Given the description of an element on the screen output the (x, y) to click on. 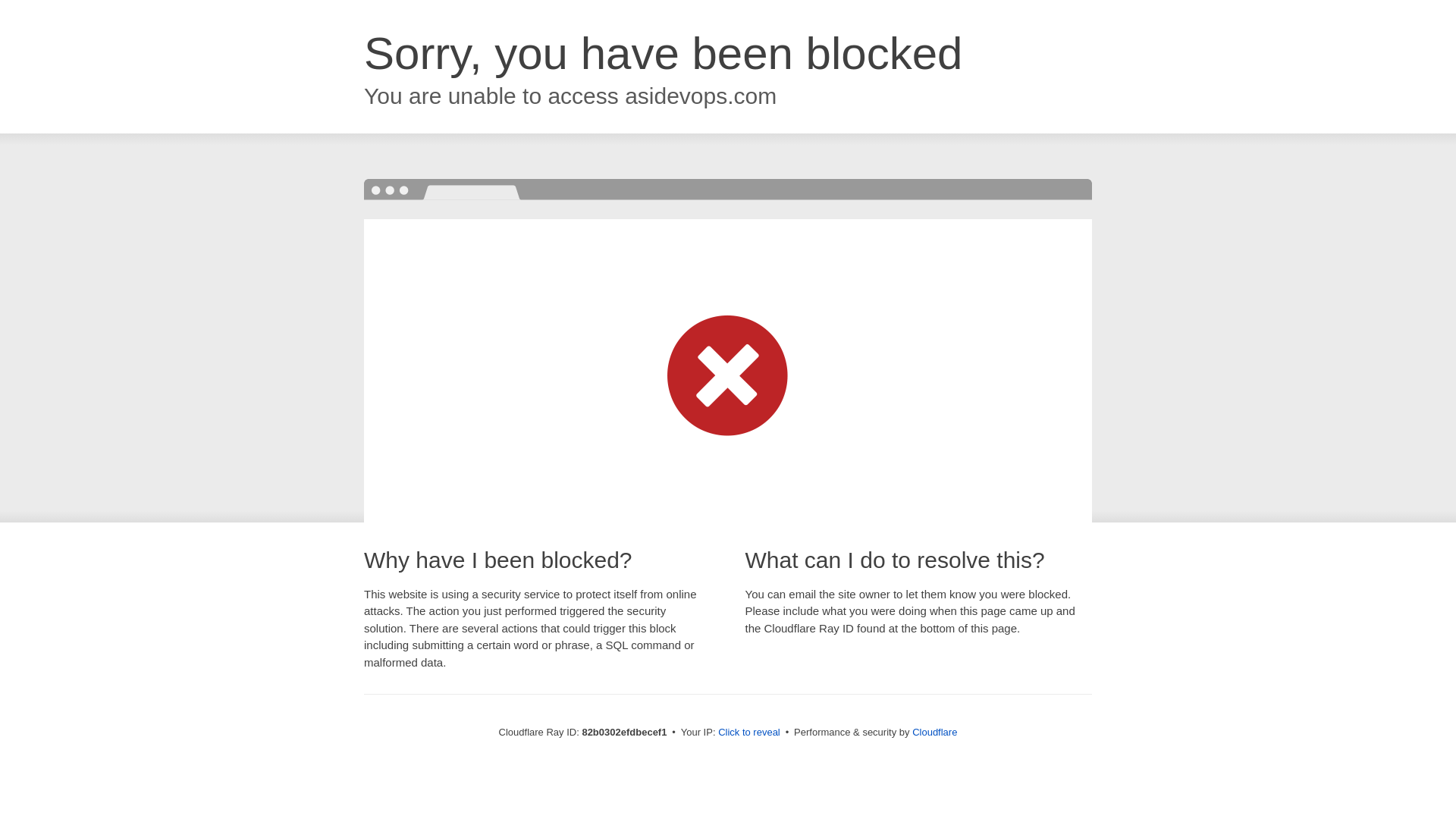
Click to reveal Element type: text (749, 732)
Cloudflare Element type: text (934, 731)
